Given the description of an element on the screen output the (x, y) to click on. 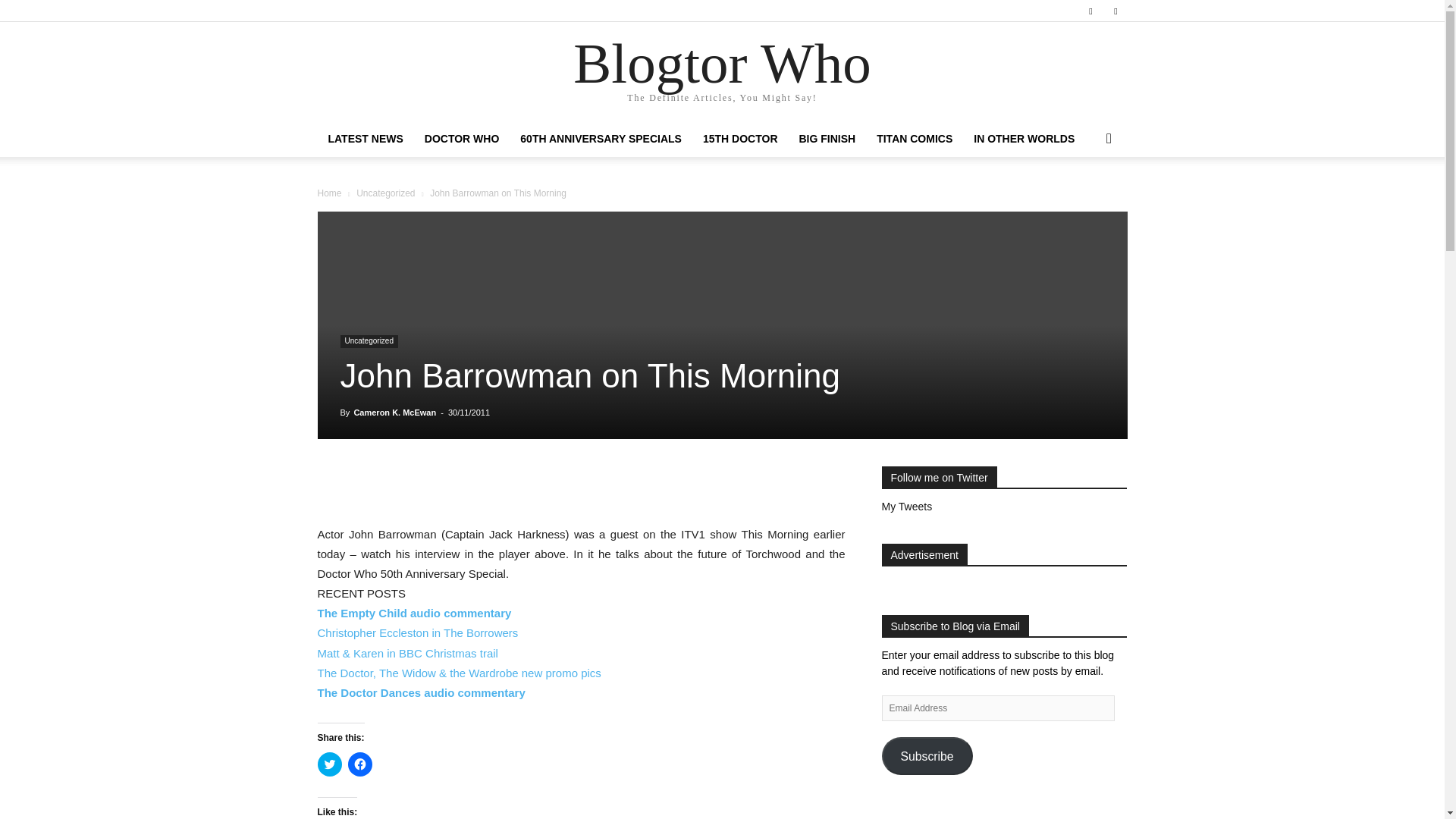
Blogtor Who The Definite Articles, You Might Say! (722, 72)
Uncategorized (368, 341)
Facebook (1090, 10)
Twitter (1114, 10)
DOCTOR WHO (462, 138)
The Doctor Dances audio commentary (420, 692)
Perma Link (417, 632)
15TH DOCTOR (741, 138)
IN OTHER WORLDS (1023, 138)
Search (1085, 199)
